Given the description of an element on the screen output the (x, y) to click on. 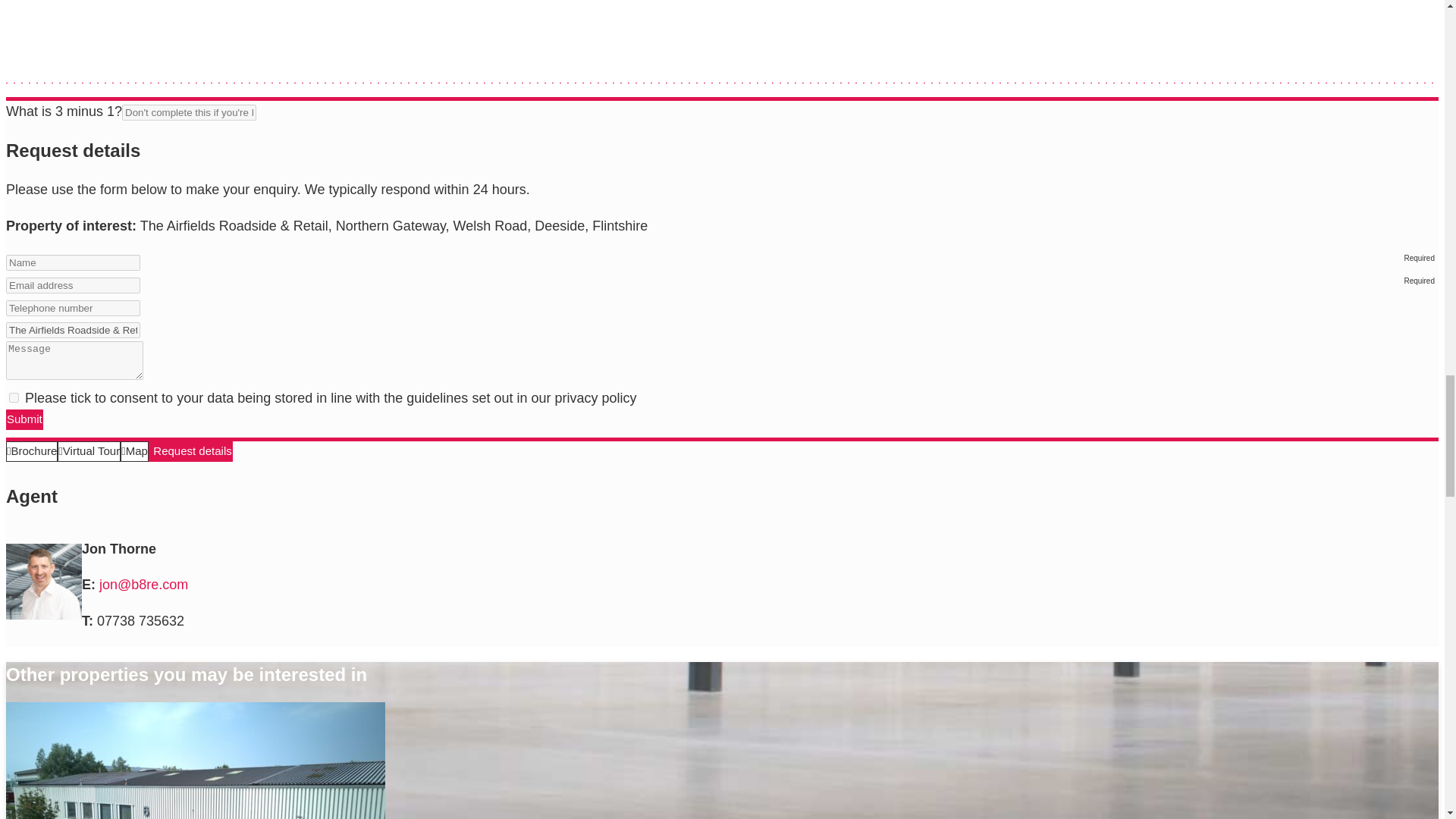
Virtual Tour (89, 451)
Submit (24, 419)
Map (134, 451)
Map (134, 451)
Jon Thorne (43, 581)
Brochure (31, 451)
Submit (24, 419)
Request details (190, 451)
Request Details (190, 451)
Map (134, 451)
Request details (190, 451)
